Given the description of an element on the screen output the (x, y) to click on. 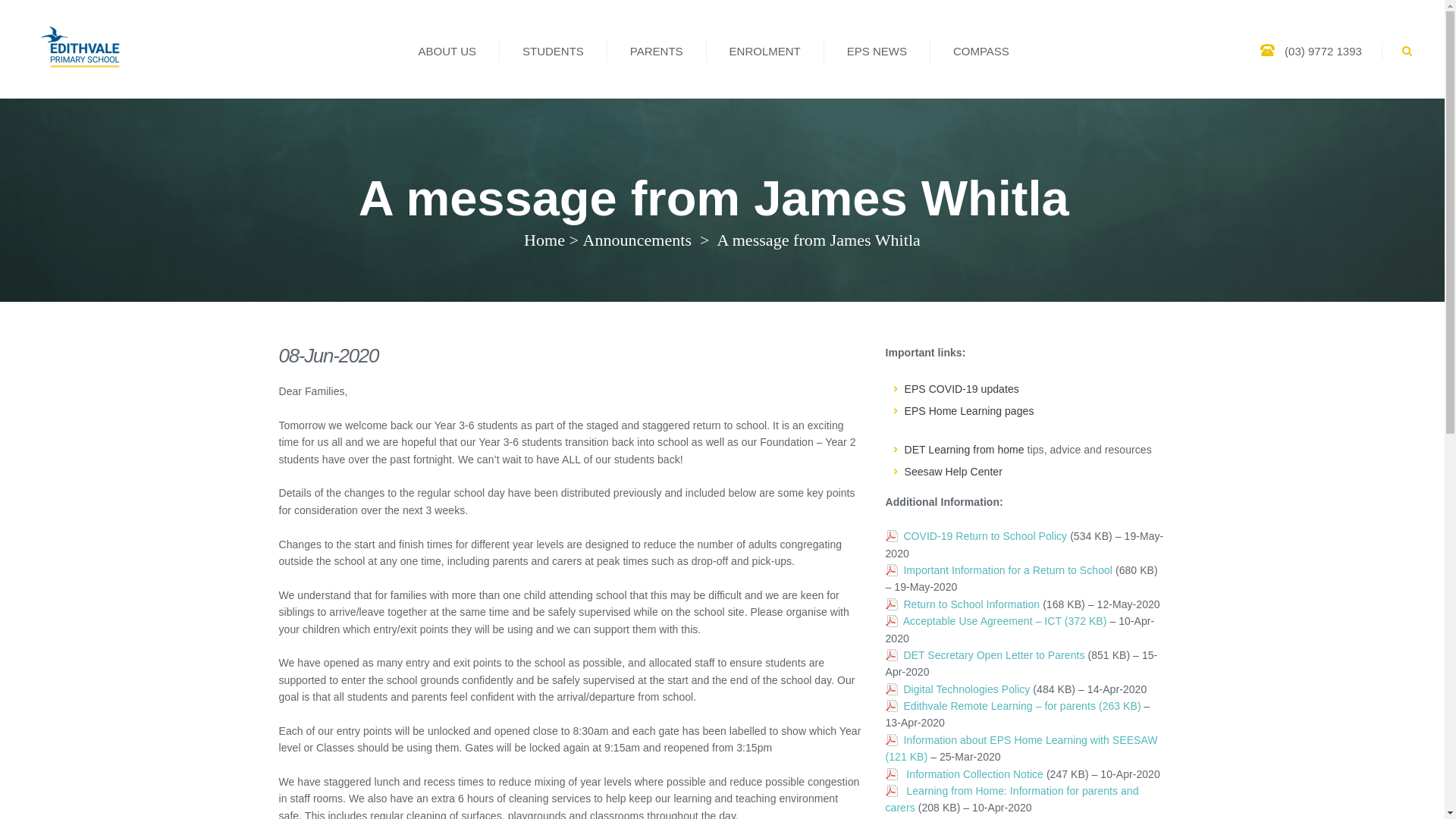
EPS NEWS (877, 51)
Coronavirus updates (960, 388)
ABOUT US (447, 51)
ENROLMENT (765, 51)
EPS Home Learning (968, 410)
STUDENTS (553, 51)
A message from James Whitla (816, 239)
COMPASS (981, 51)
PARENTS (656, 51)
Announcements (636, 239)
DET Learning from home (963, 449)
Seesaw help center (952, 471)
